Given the description of an element on the screen output the (x, y) to click on. 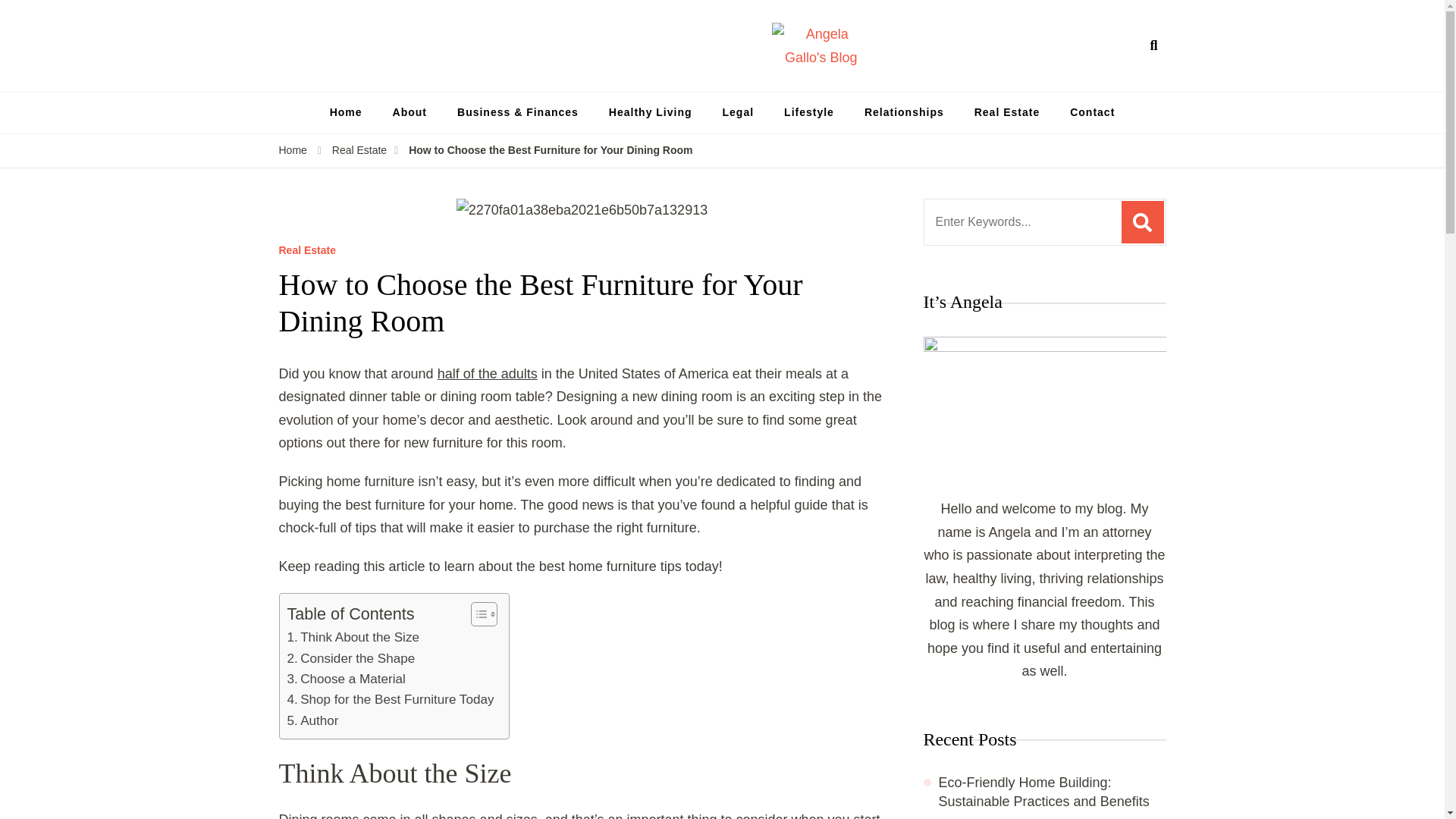
Relationships (903, 112)
Consider the Shape (350, 658)
Choose a Material (345, 679)
Angela Gallo's Blog (962, 79)
Think About the Size (352, 637)
Legal (738, 112)
How to Choose the Best Furniture for Your Dining Room (551, 150)
Home (293, 150)
Author (311, 720)
Search (1141, 221)
About (409, 112)
Choose a Material (345, 679)
Author (311, 720)
Home (345, 112)
Contact (1091, 112)
